Given the description of an element on the screen output the (x, y) to click on. 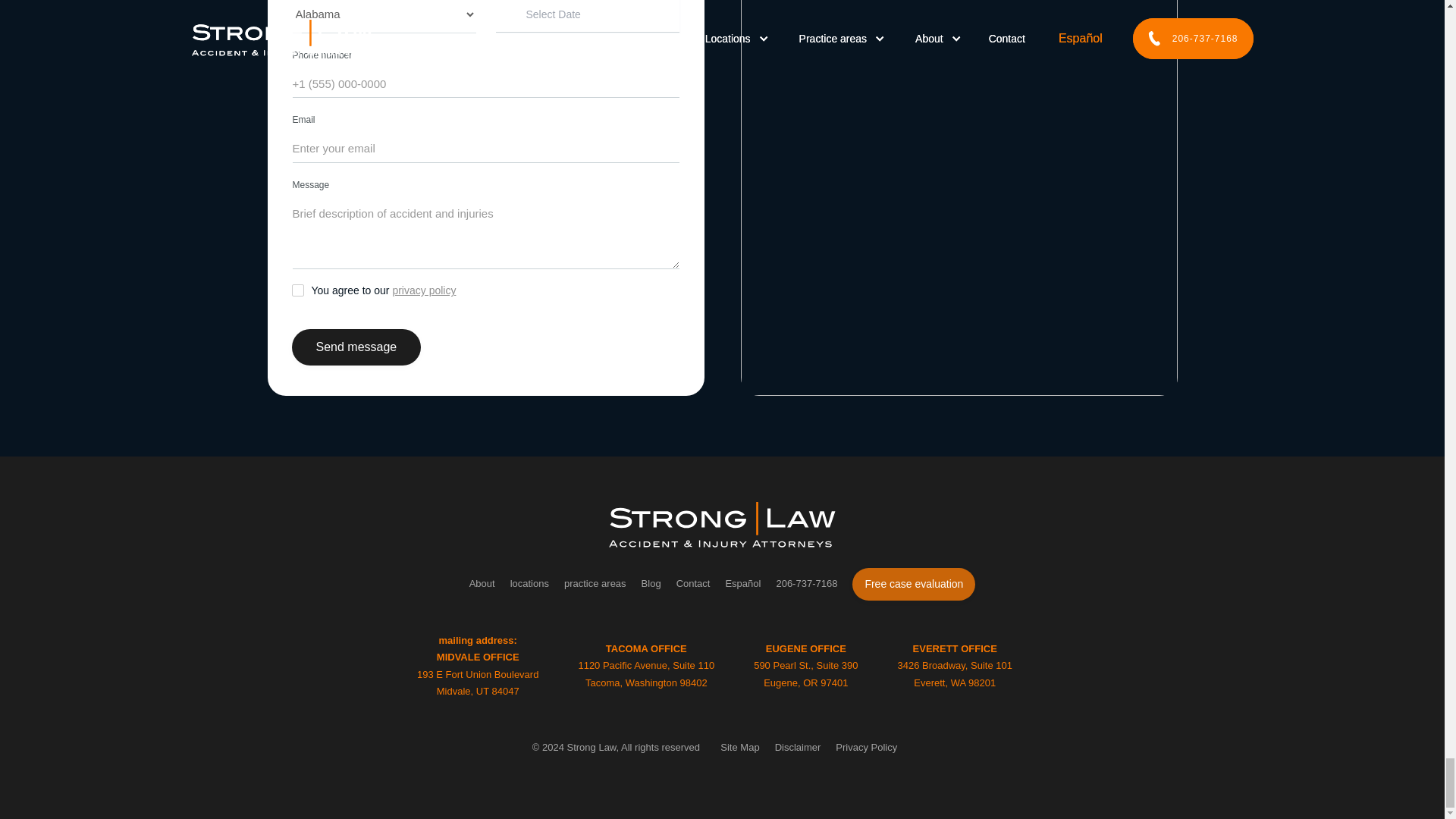
Send message (355, 347)
